Given the description of an element on the screen output the (x, y) to click on. 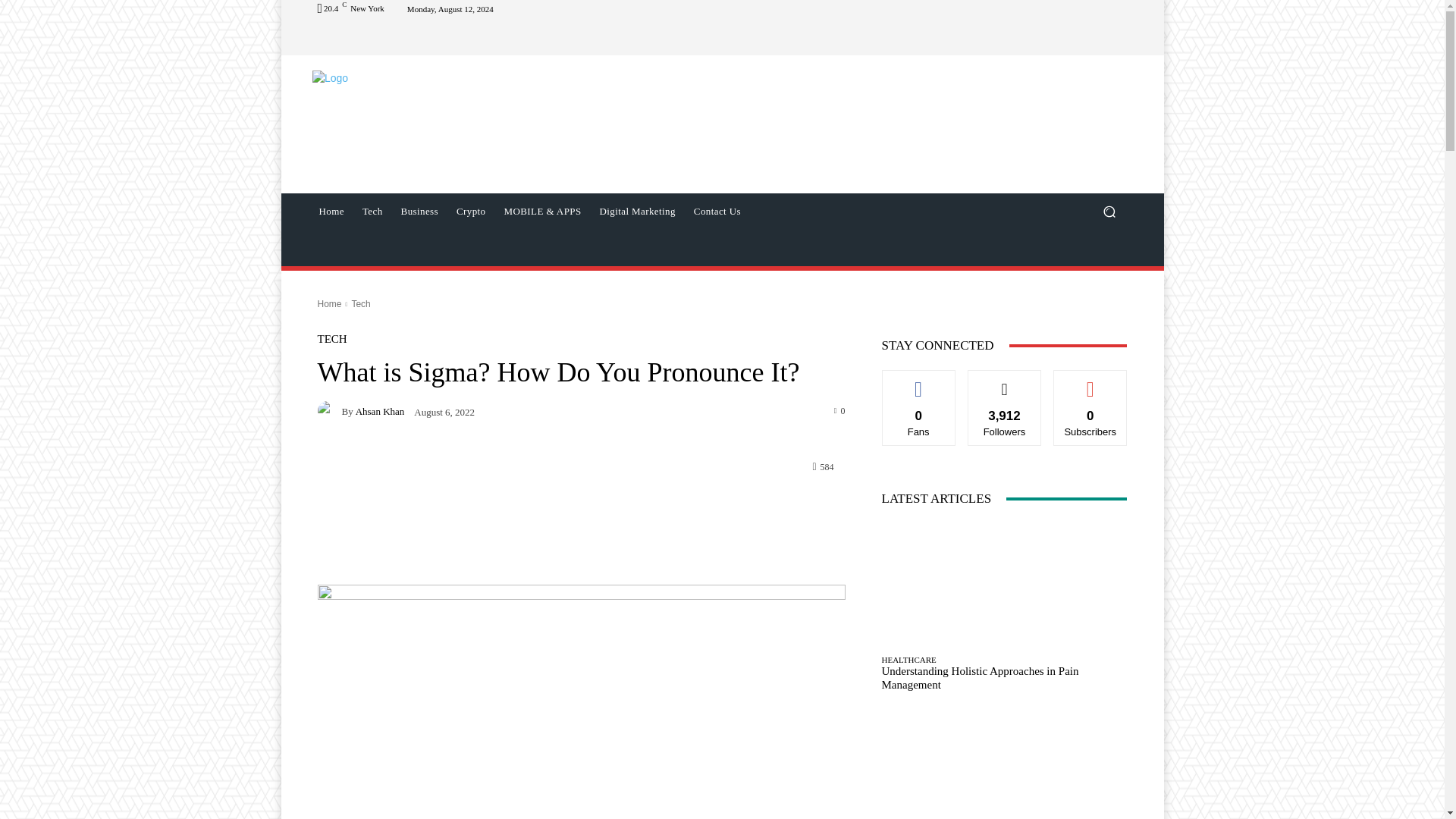
Home (330, 211)
TECH (331, 338)
Contact Us (716, 211)
0 (839, 409)
Digital Marketing (637, 211)
Ahsan Khan (379, 411)
Home (328, 303)
View all posts in Tech (359, 303)
Business (418, 211)
sigma (580, 701)
